Given the description of an element on the screen output the (x, y) to click on. 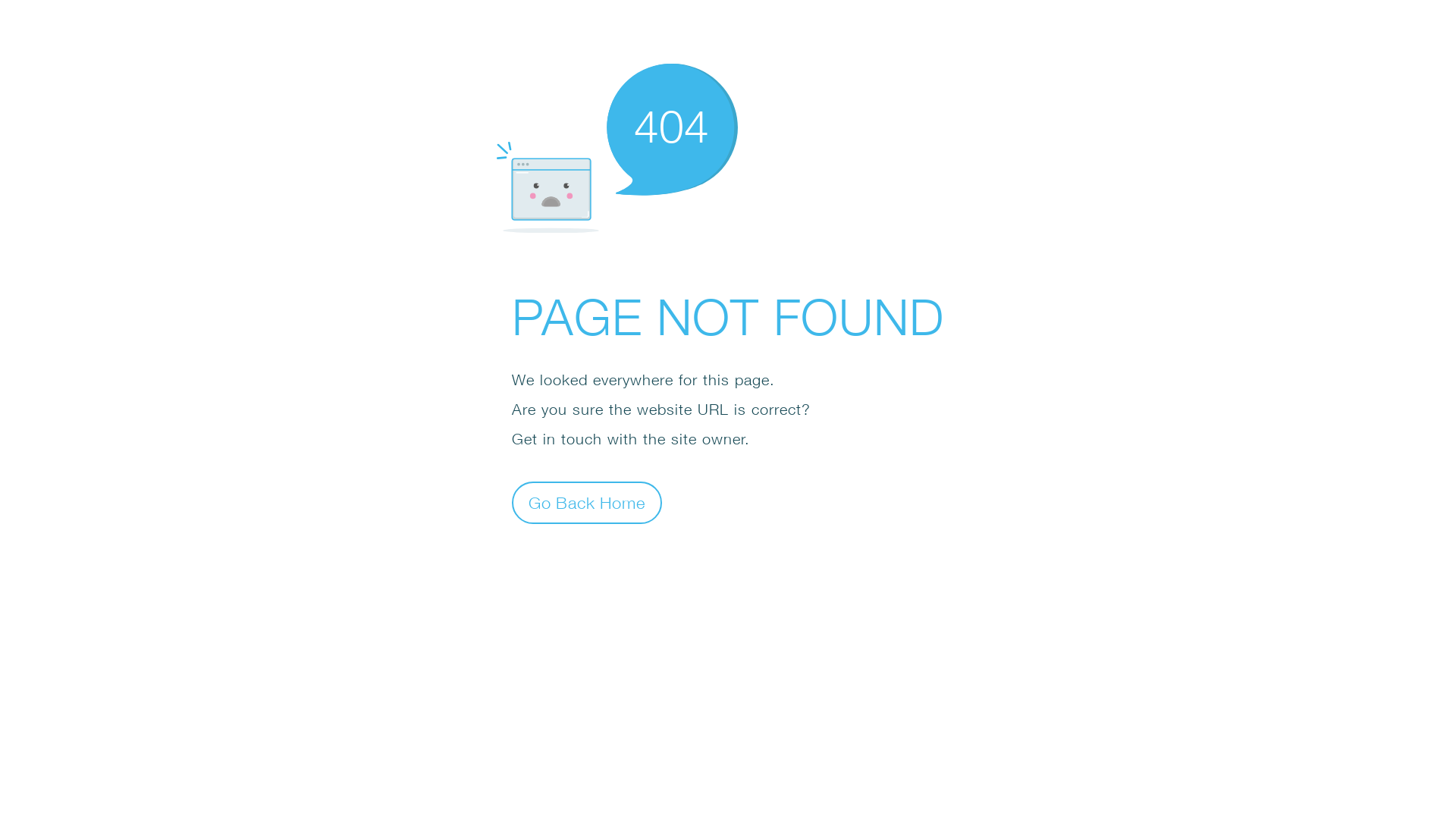
Go Back Home Element type: text (586, 502)
